Given the description of an element on the screen output the (x, y) to click on. 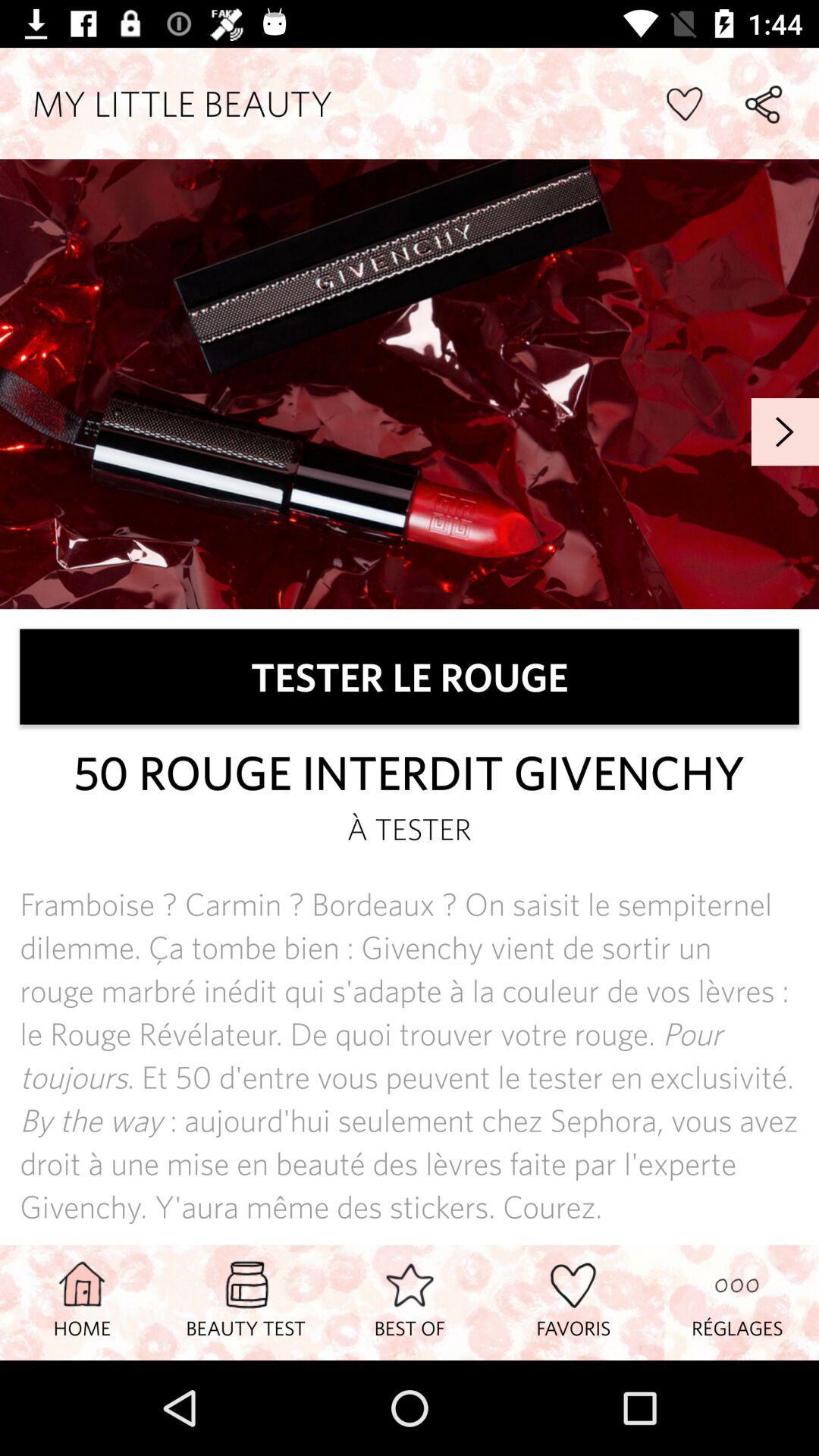
click to my little beauty (409, 384)
